Given the description of an element on the screen output the (x, y) to click on. 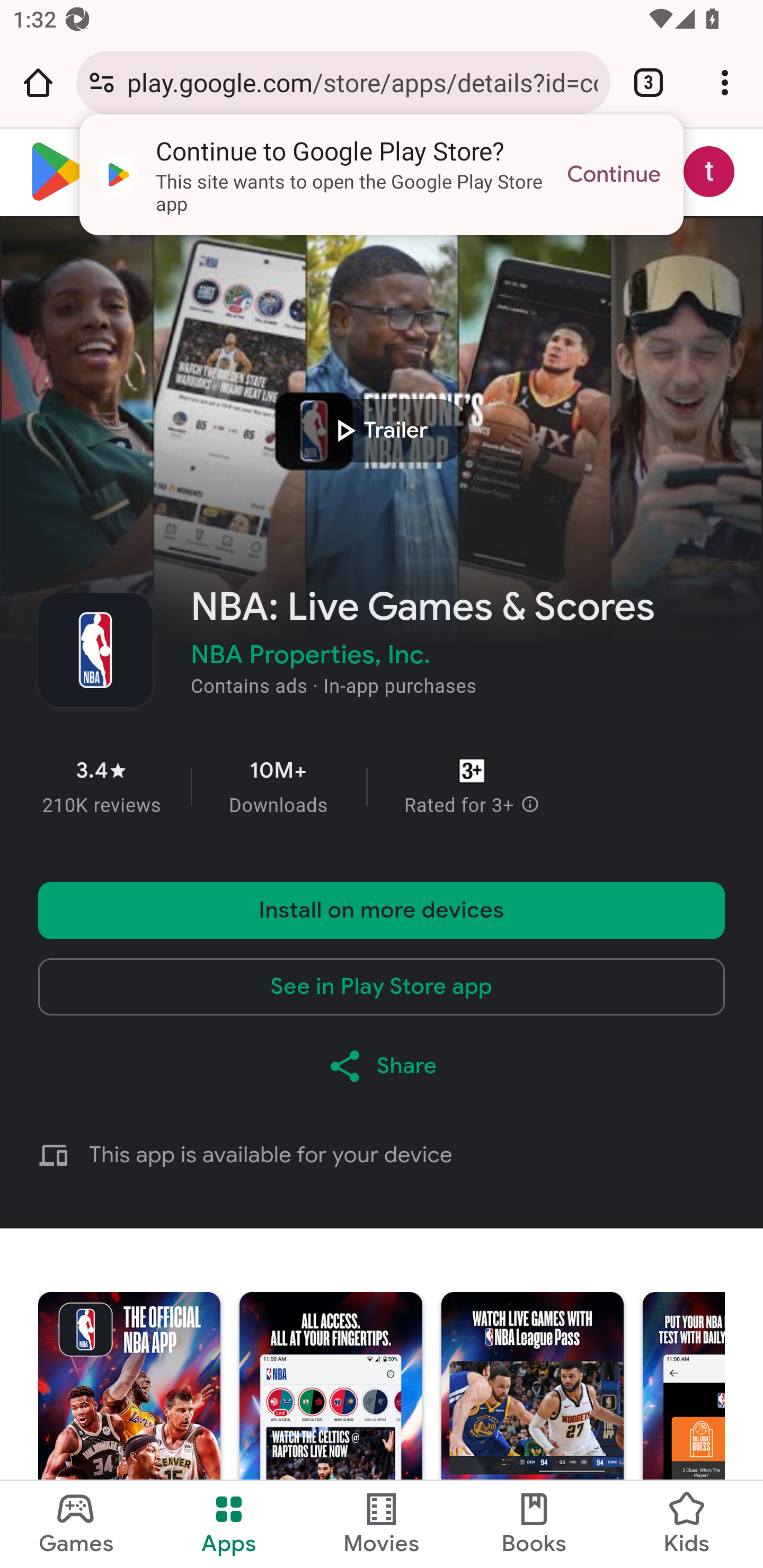
Open the home page (38, 82)
Connection is secure (101, 82)
Switch or close tabs (648, 82)
Customize and control Google Chrome (724, 82)
Continue (613, 174)
Play trailer (381, 430)
NBA Properties, Inc. (310, 654)
More info about this content rating (529, 805)
Install on more devices (381, 910)
See in Play Store app (381, 986)
Share (381, 1065)
Screenshot image (129, 1430)
Screenshot image (330, 1430)
Screenshot image (532, 1430)
Games (76, 1524)
Apps (228, 1524)
Movies (381, 1524)
Books (533, 1524)
Kids (686, 1524)
